Given the description of an element on the screen output the (x, y) to click on. 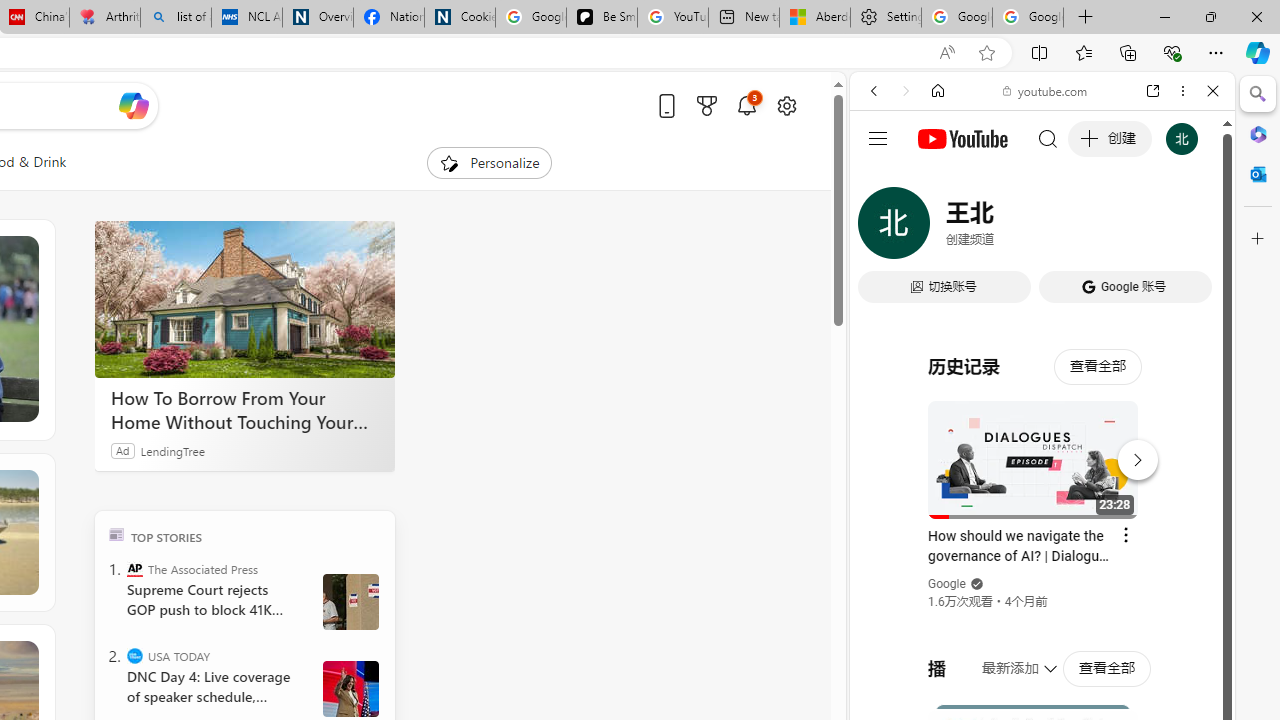
How To Borrow From Your Home Without Touching Your Mortgage (244, 299)
See more (24, 654)
Read aloud this page (Ctrl+Shift+U) (946, 53)
The Associated Press (134, 568)
Search Filter, Search Tools (1093, 228)
This site scope (936, 180)
